Given the description of an element on the screen output the (x, y) to click on. 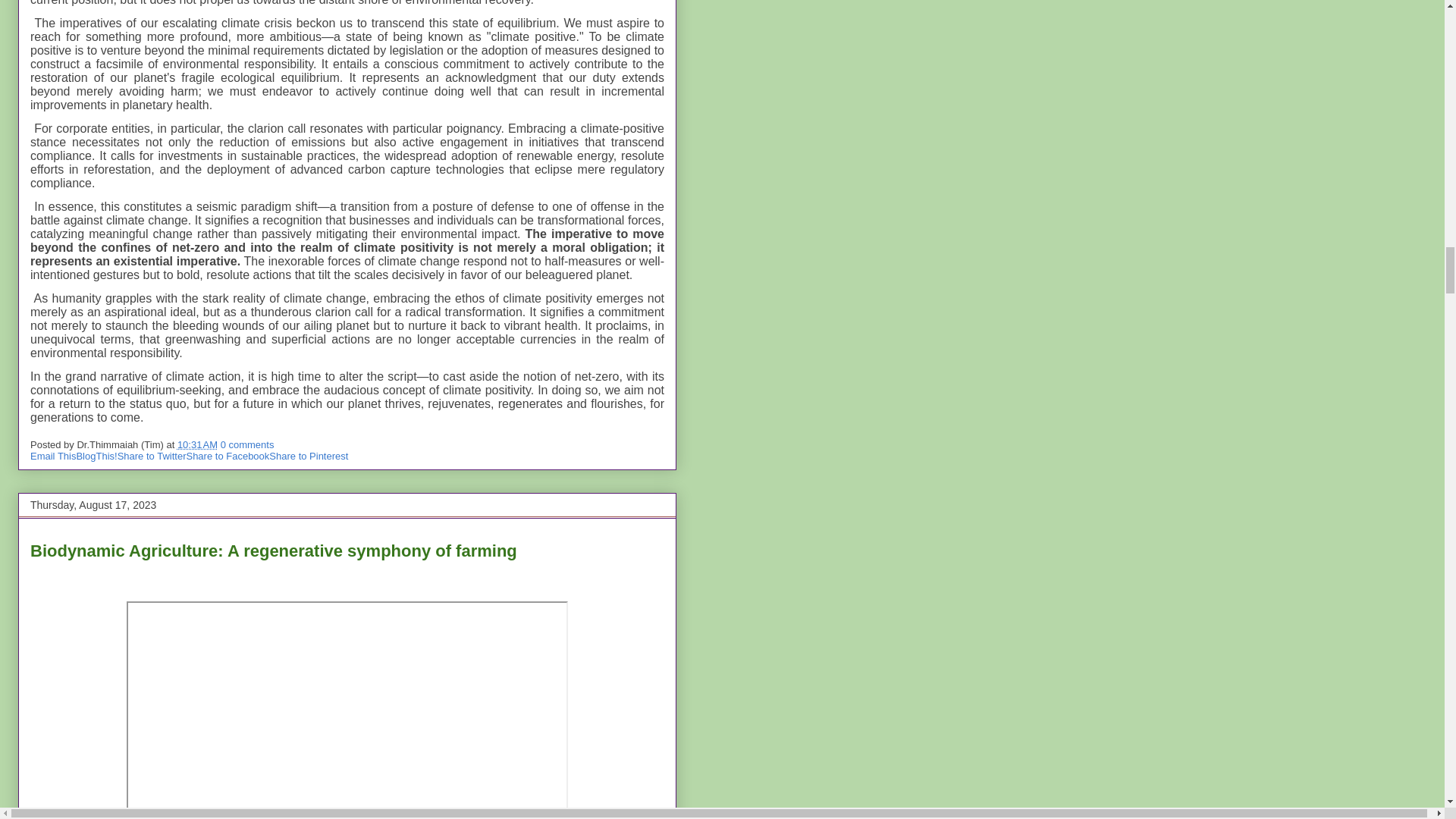
Email This (52, 455)
0 comments (248, 444)
BlogThis! (95, 455)
Share to Twitter (151, 455)
